Given the description of an element on the screen output the (x, y) to click on. 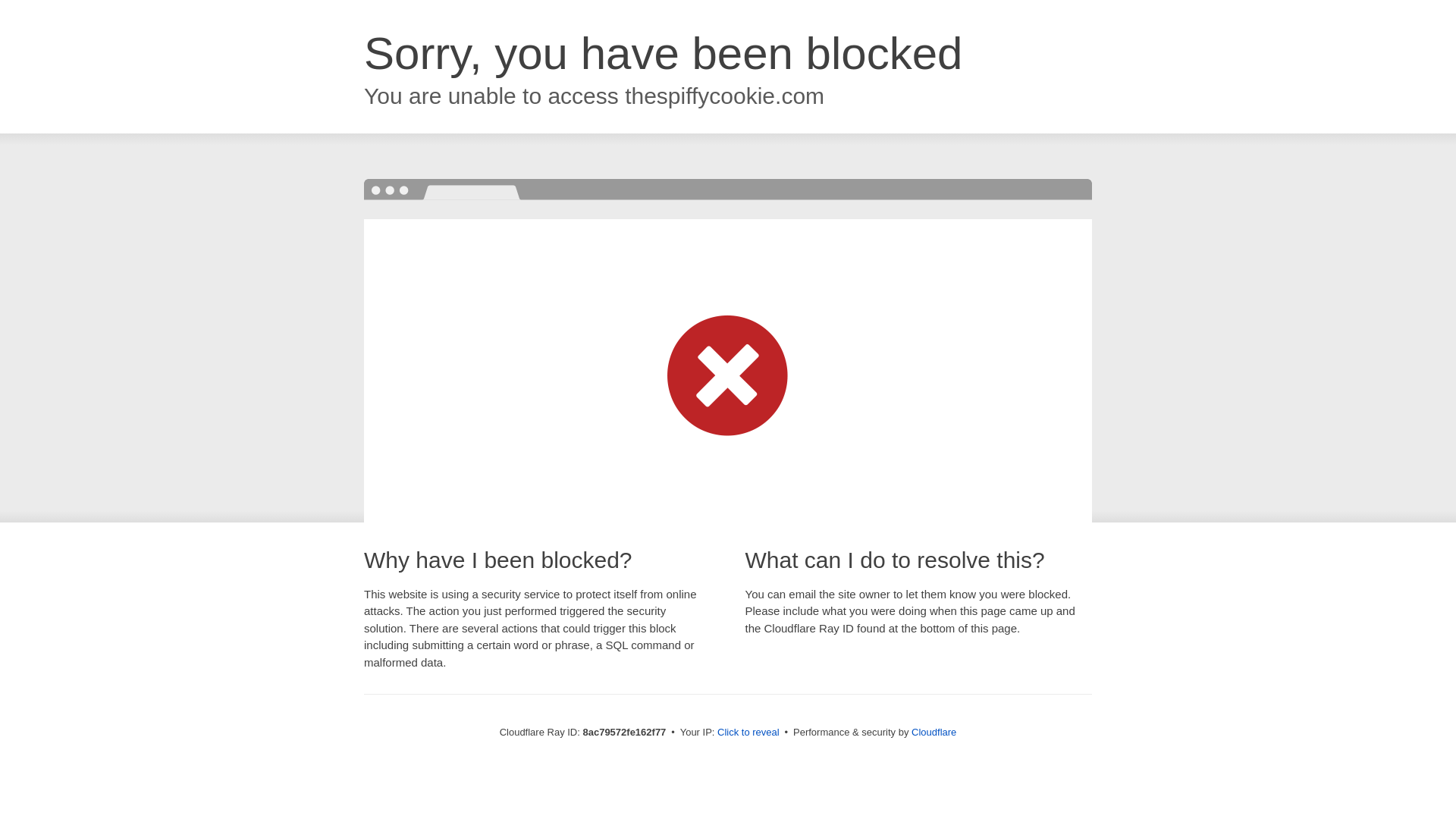
Cloudflare (933, 731)
Click to reveal (747, 732)
